Given the description of an element on the screen output the (x, y) to click on. 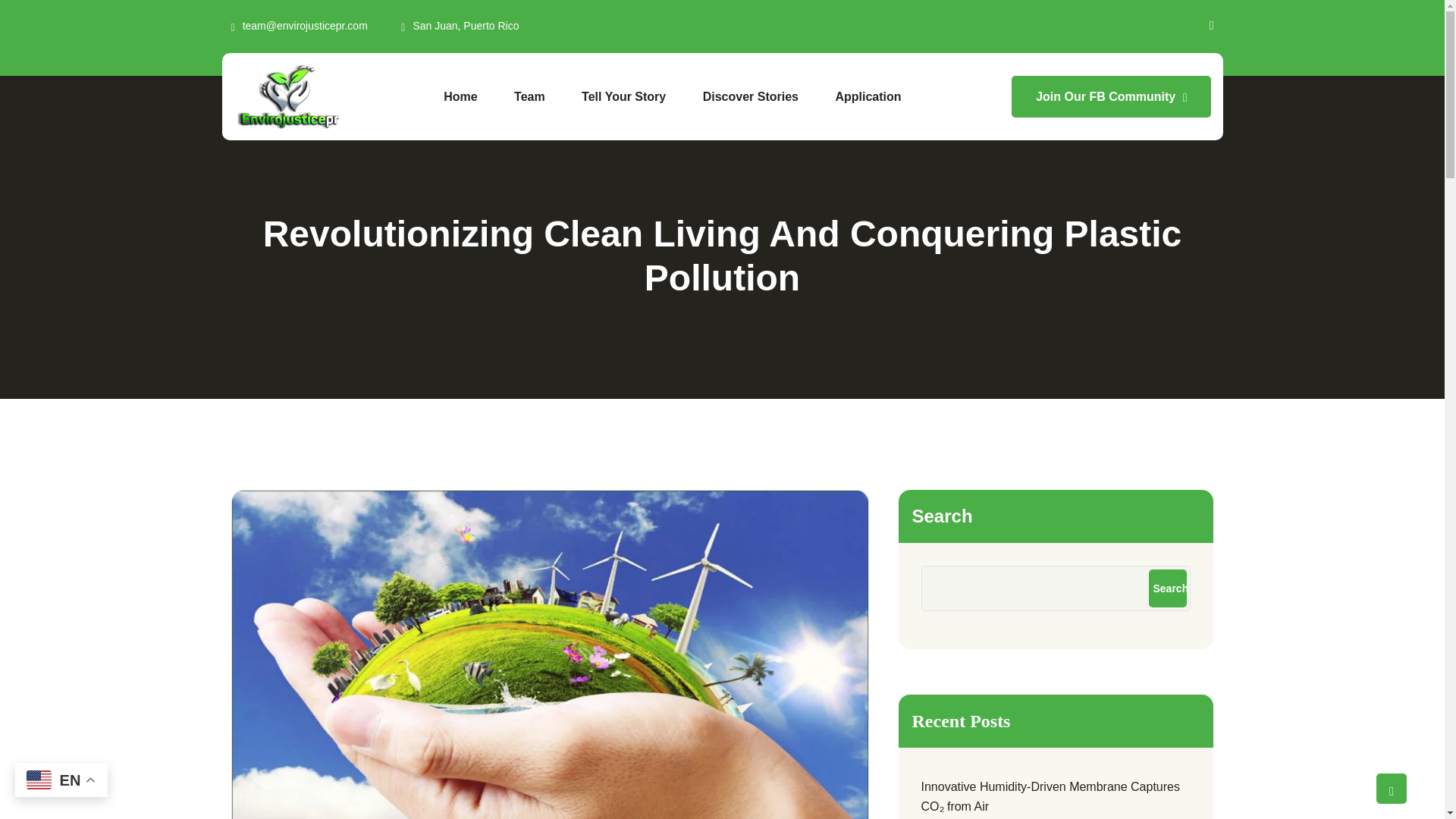
Tell Your Story (622, 96)
Application (867, 96)
Search (1167, 588)
envirojusticepr-logo-transparent (286, 96)
Join Our FB Community (1111, 96)
Discover Stories (750, 96)
